Given the description of an element on the screen output the (x, y) to click on. 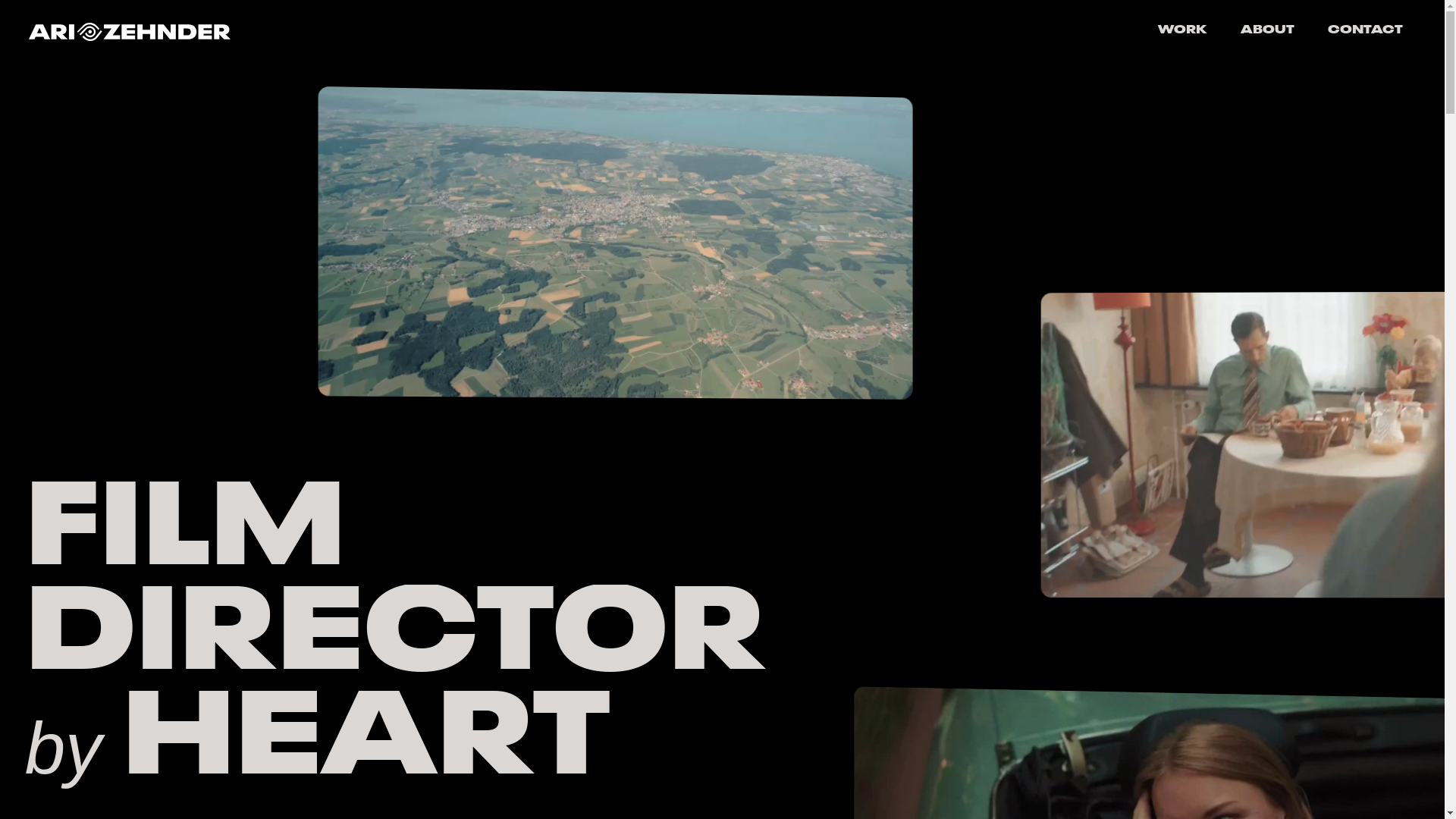
CONTACT Element type: text (1365, 31)
WORK Element type: text (1182, 31)
ABOUT Element type: text (1267, 31)
